Given the description of an element on the screen output the (x, y) to click on. 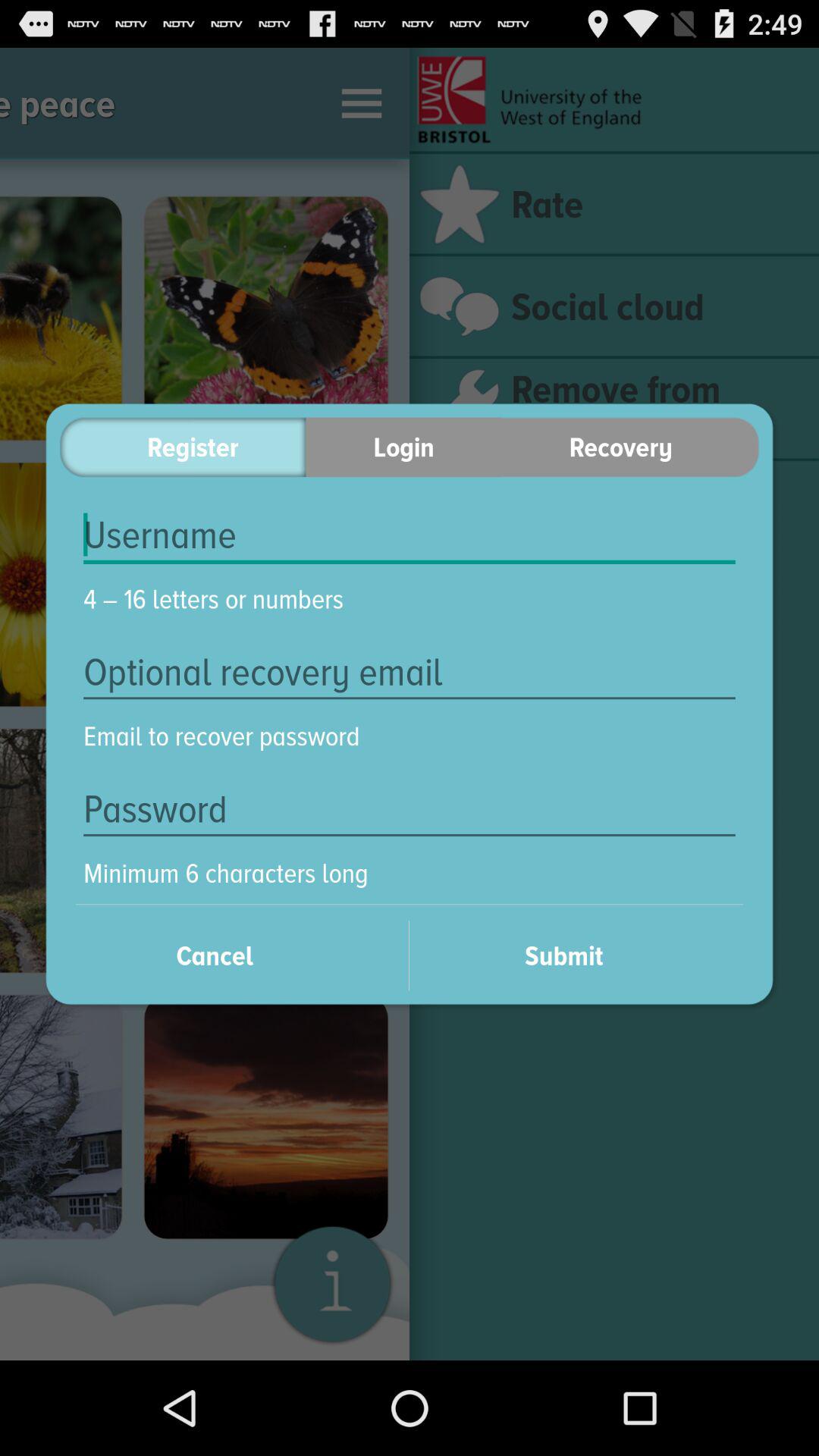
select icon above the minimum 6 characters (409, 809)
